Given the description of an element on the screen output the (x, y) to click on. 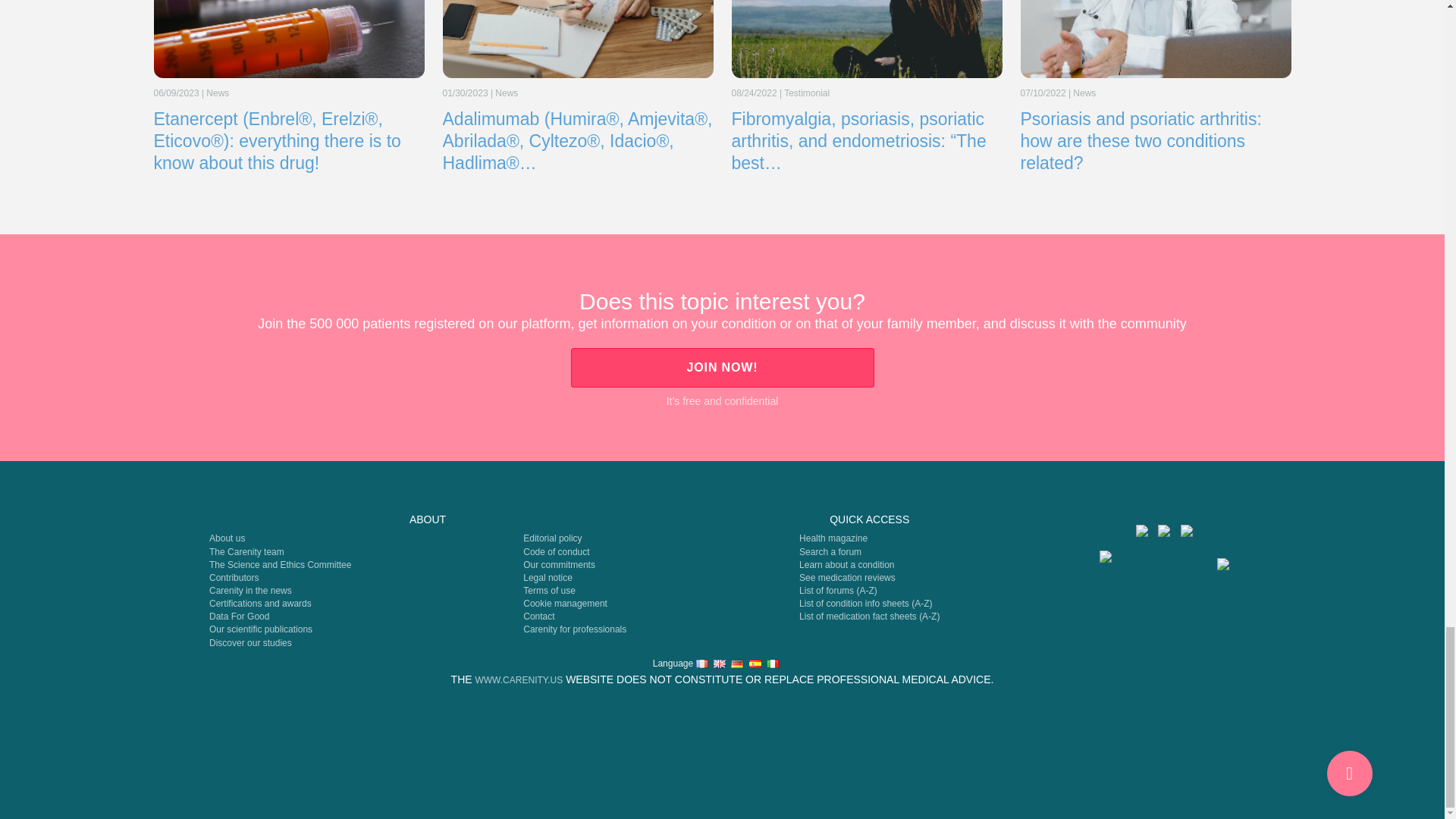
English (719, 664)
Spanish (755, 664)
French (701, 664)
Italian (772, 664)
German (736, 664)
